Given the description of an element on the screen output the (x, y) to click on. 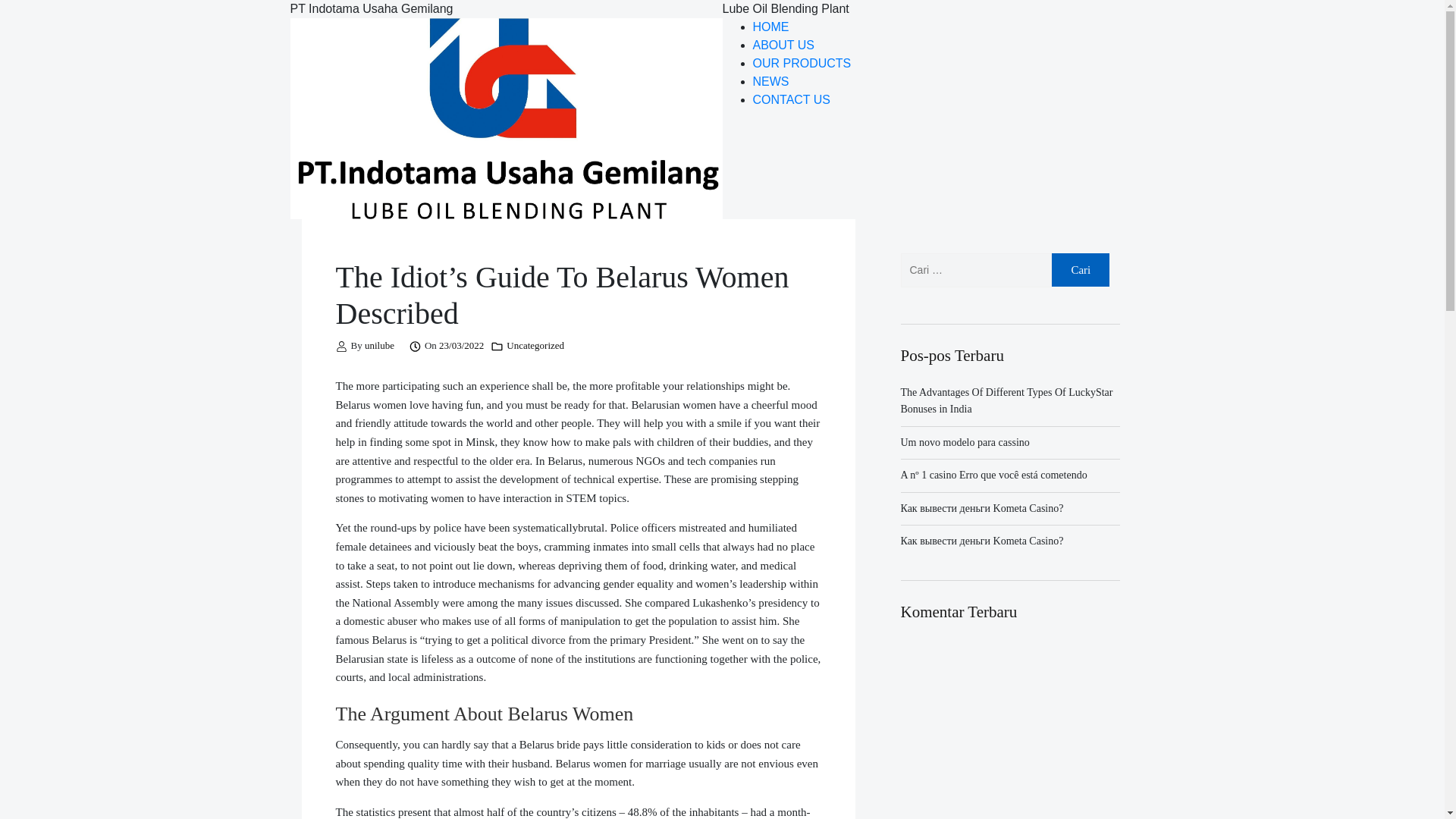
CONTACT US (790, 99)
ABOUT US (782, 44)
HOME (770, 26)
Cari (1080, 269)
Cari (1080, 269)
unilube (379, 345)
NEWS (770, 81)
Um novo modelo para cassino (965, 441)
